Given the description of an element on the screen output the (x, y) to click on. 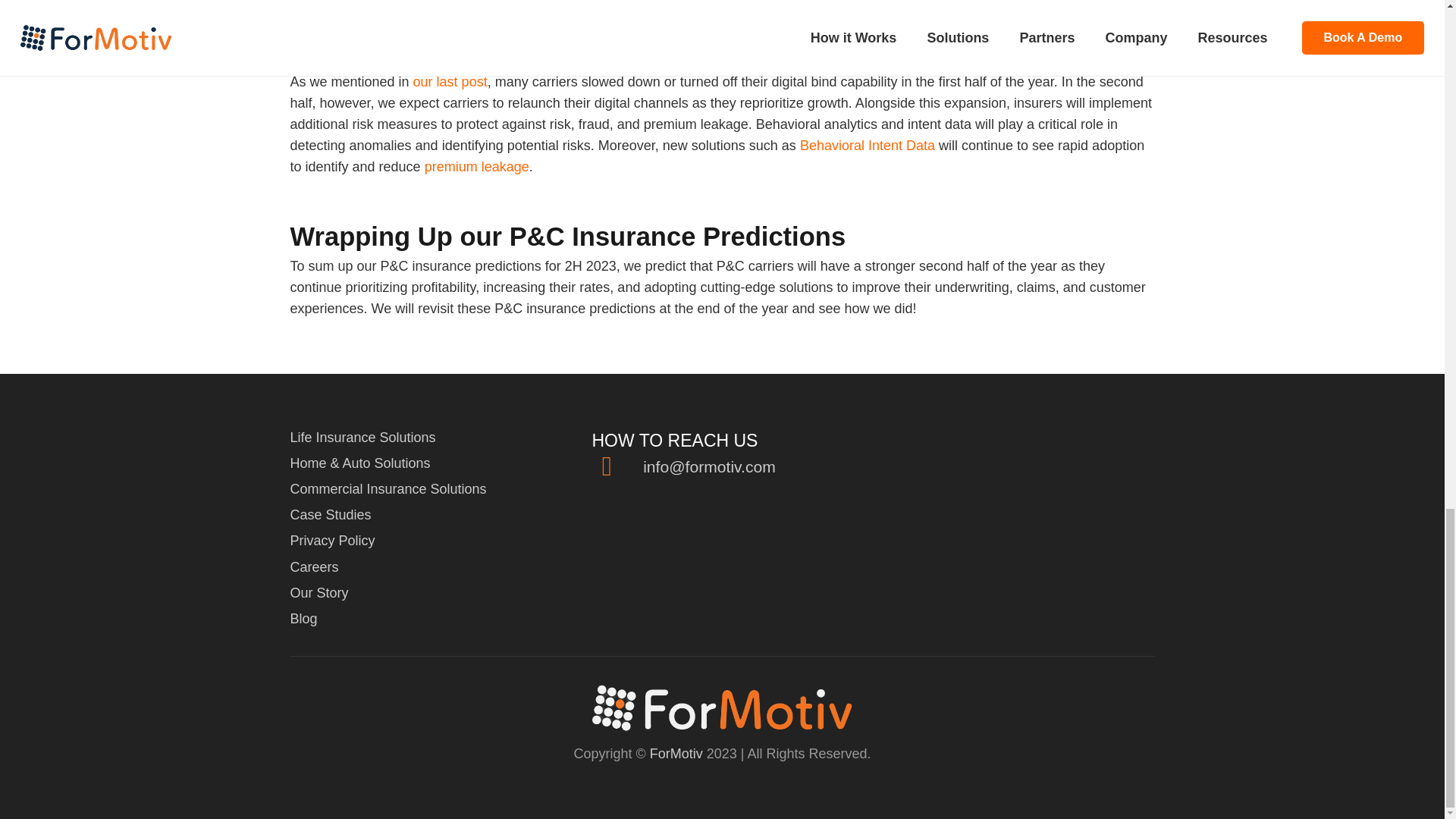
Privacy Policy (331, 540)
Form 0 (1023, 501)
premium leakage (477, 166)
Case Studies (330, 514)
our last post (450, 81)
Life Insurance Solutions (362, 437)
Our Story (318, 592)
Careers (313, 566)
Commercial Insurance Solutions (387, 488)
Behavioral Intent Data (866, 145)
